Given the description of an element on the screen output the (x, y) to click on. 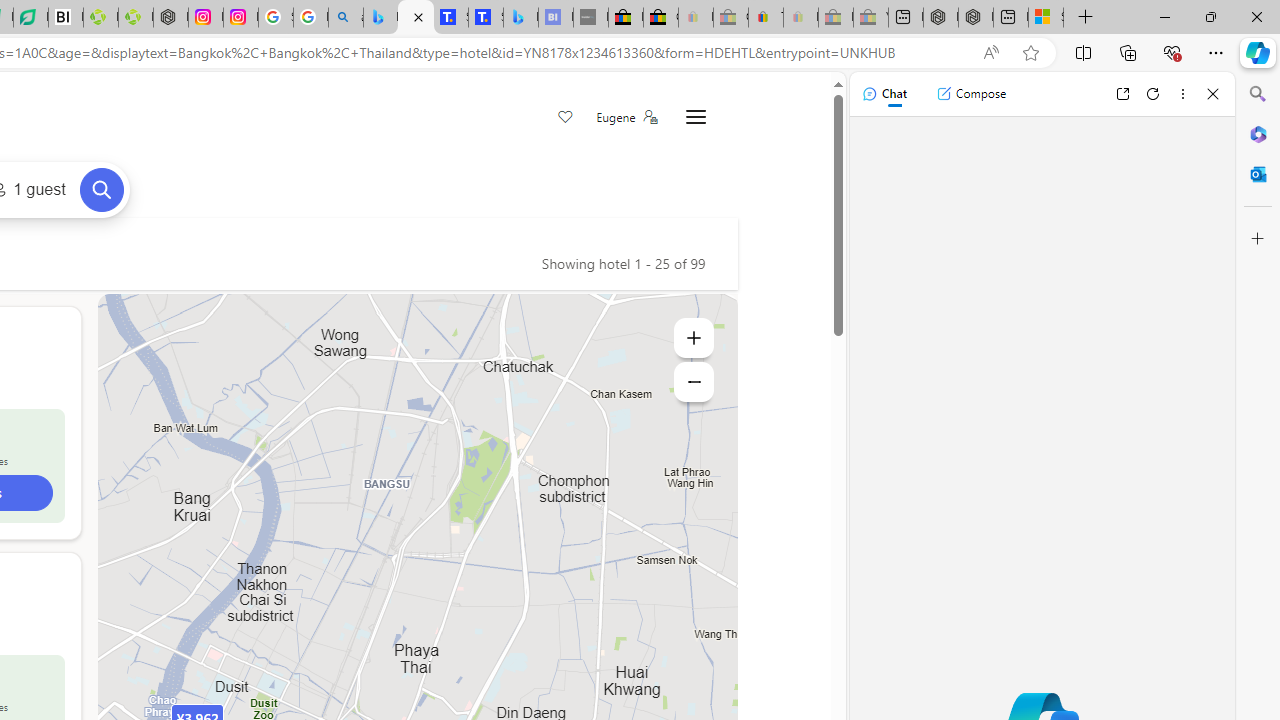
Payments Terms of Use | eBay.com - Sleeping (800, 17)
Threats and offensive language policy | eBay (765, 17)
Yard, Garden & Outdoor Living - Sleeping (870, 17)
